Given the description of an element on the screen output the (x, y) to click on. 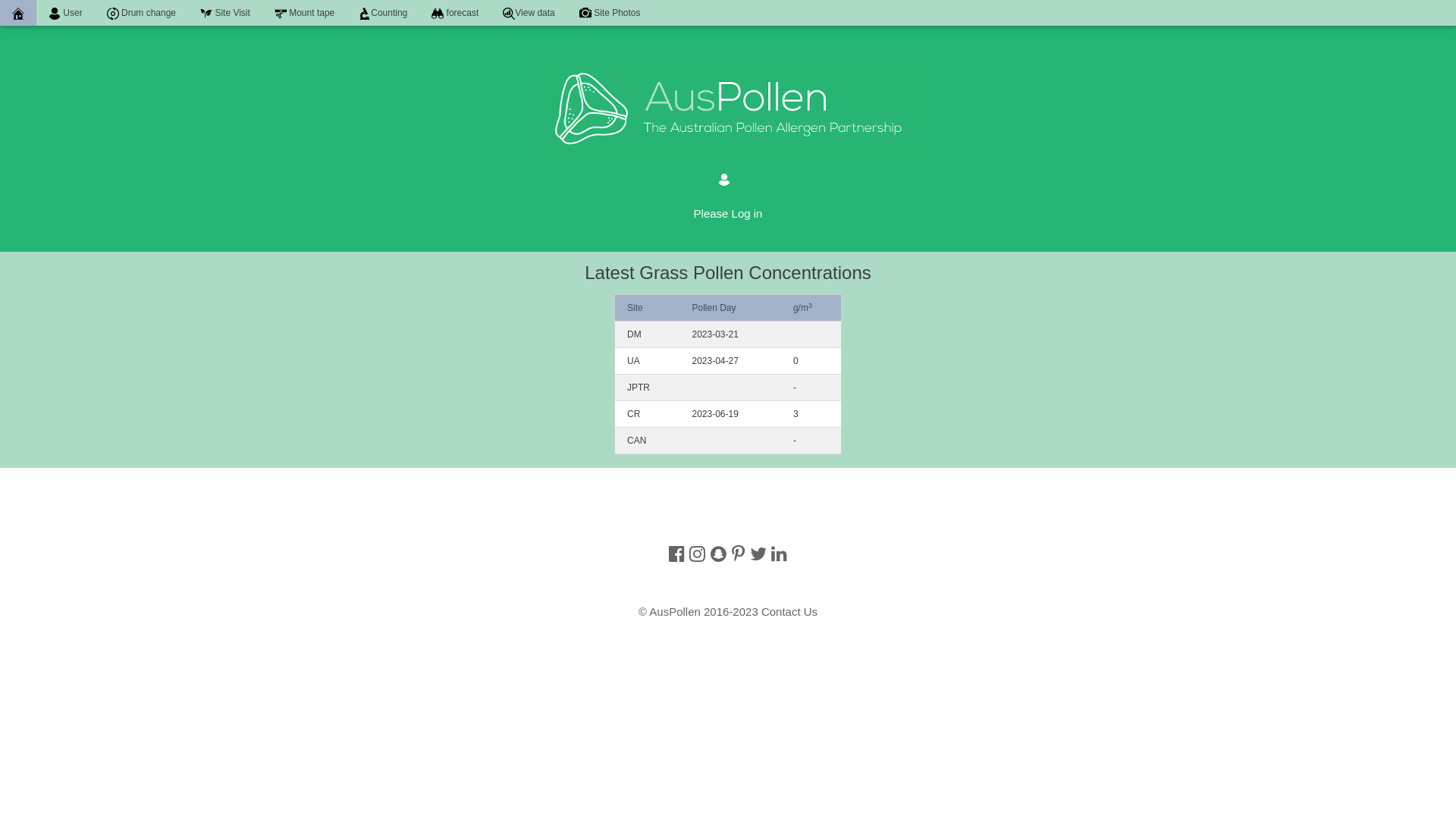
View data Element type: text (528, 12)
Mount tape Element type: text (304, 12)
forecast Element type: text (454, 12)
Counting Element type: text (382, 12)
Auspollen Home Element type: hover (18, 13)
User Element type: text (65, 12)
Drum change Element type: text (141, 12)
Please Log in Element type: text (727, 212)
Contact Us Element type: text (789, 611)
Site Photos Element type: text (609, 12)
Site Visit Element type: text (225, 12)
